Given the description of an element on the screen output the (x, y) to click on. 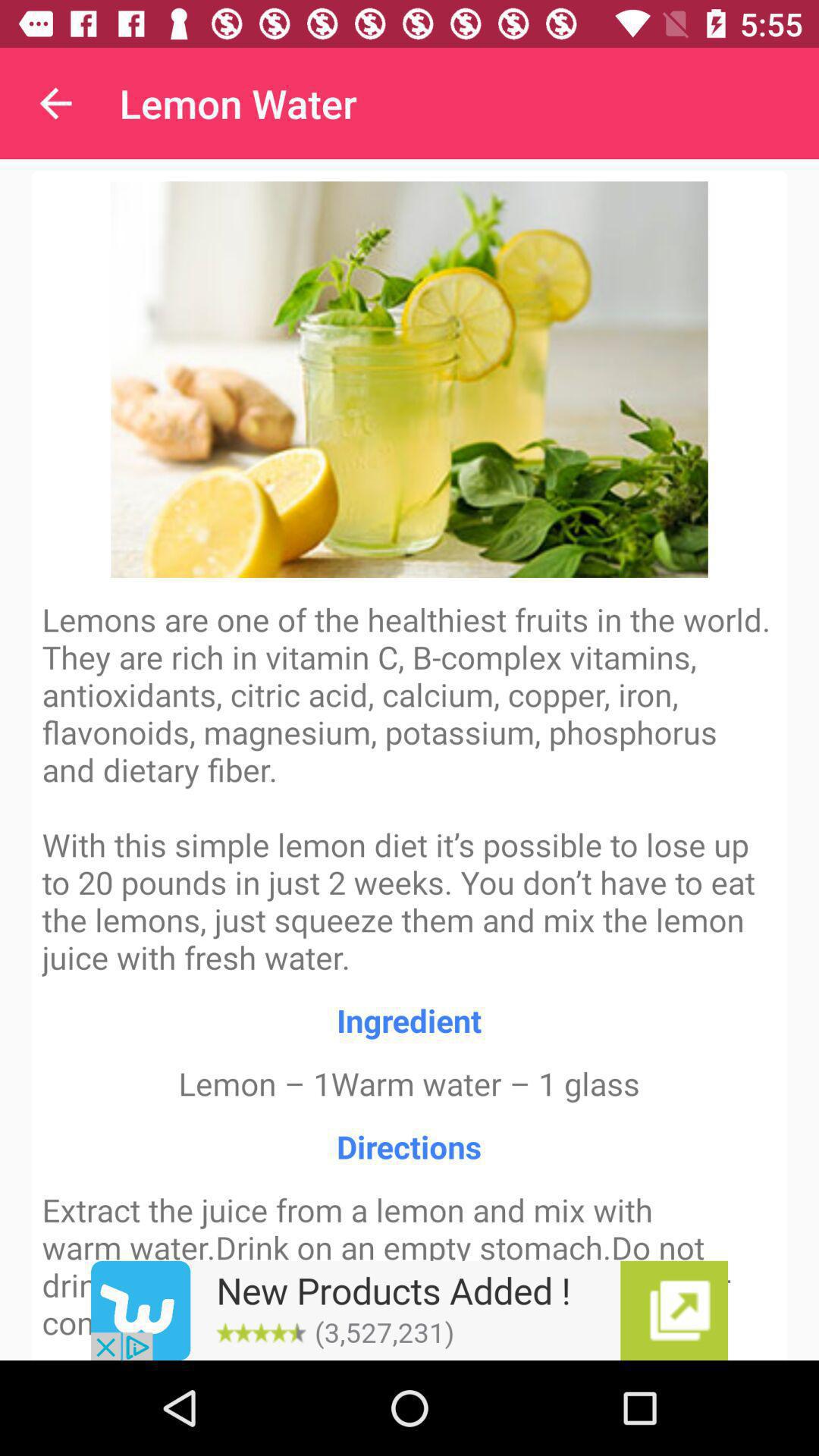
view advertisement (409, 1310)
